Given the description of an element on the screen output the (x, y) to click on. 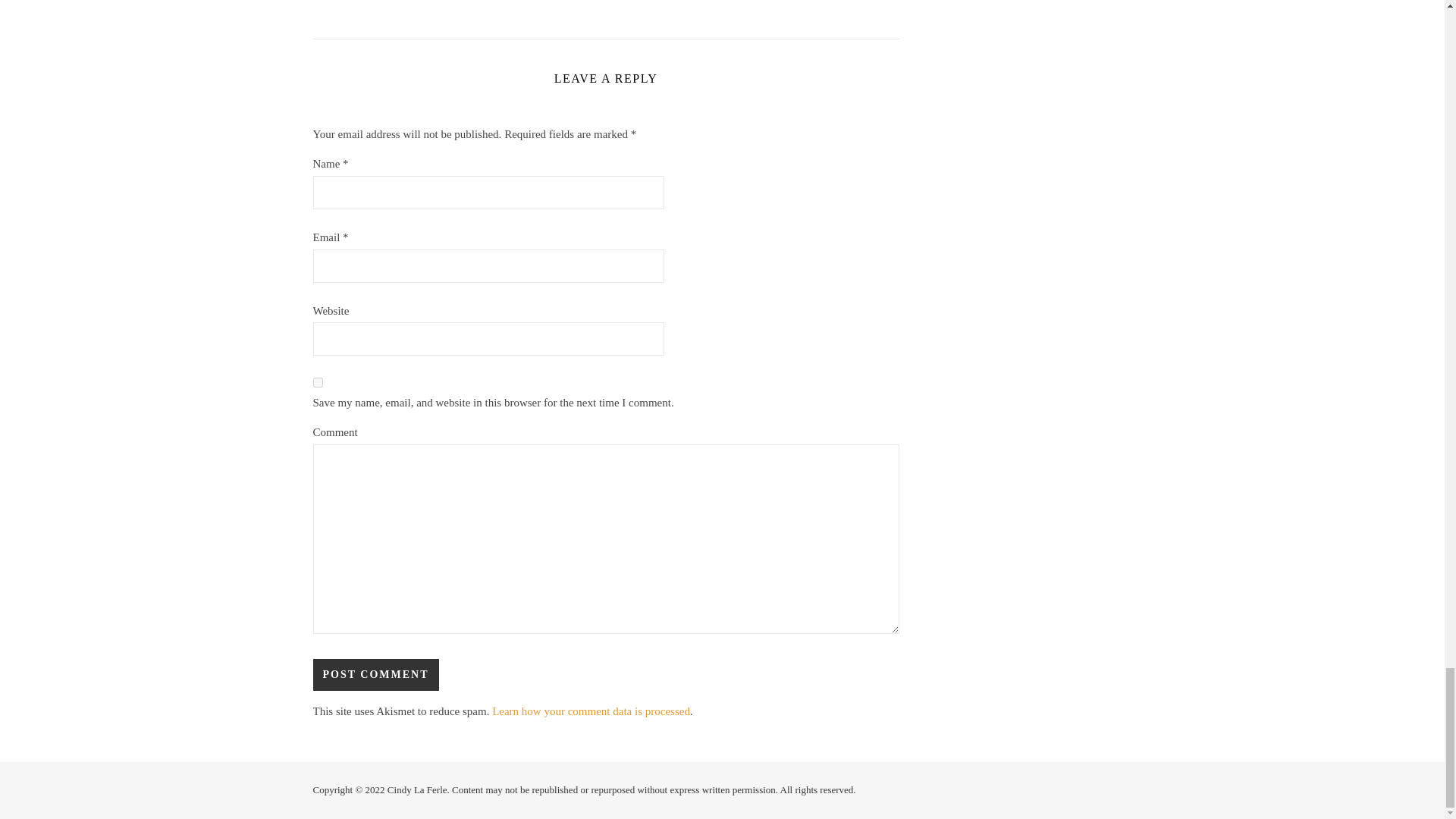
yes (317, 382)
Post Comment (375, 675)
